Given the description of an element on the screen output the (x, y) to click on. 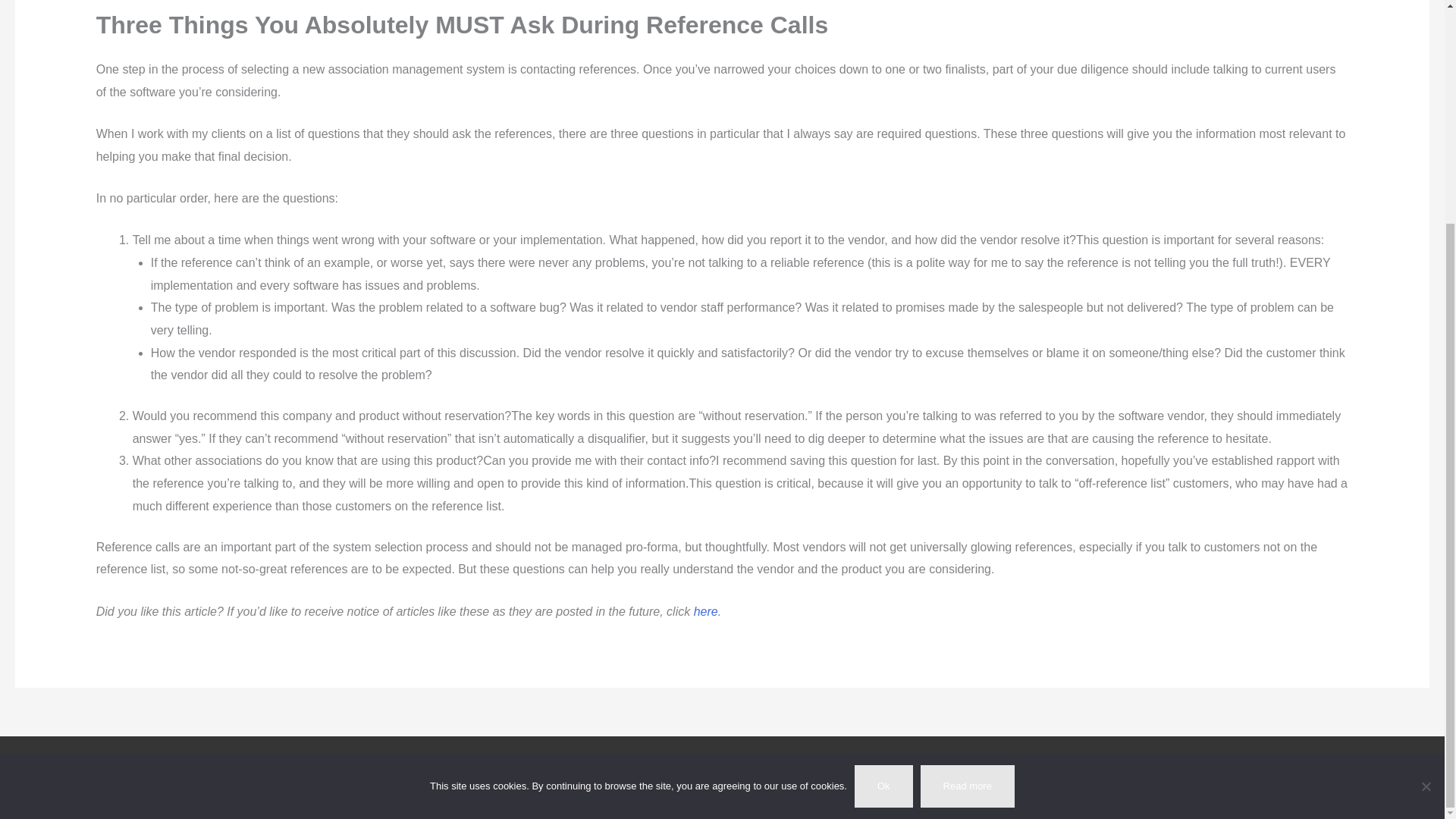
No (1425, 488)
